Given the description of an element on the screen output the (x, y) to click on. 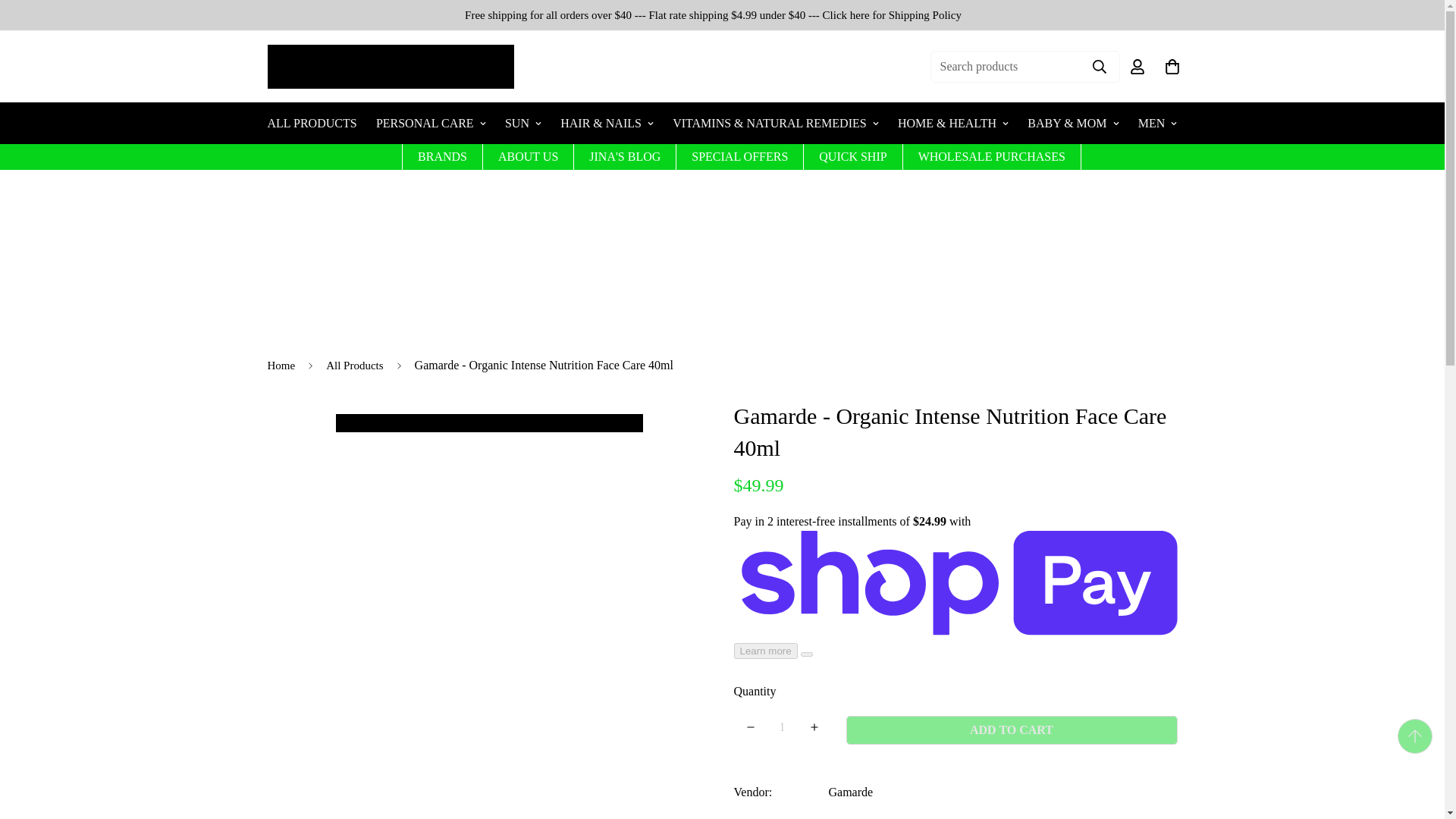
ALL PRODUCTS (311, 123)
Back to the home page (280, 365)
PERSONAL CARE (430, 123)
Pharmarcie.com (389, 66)
Gamarde (850, 791)
